Given the description of an element on the screen output the (x, y) to click on. 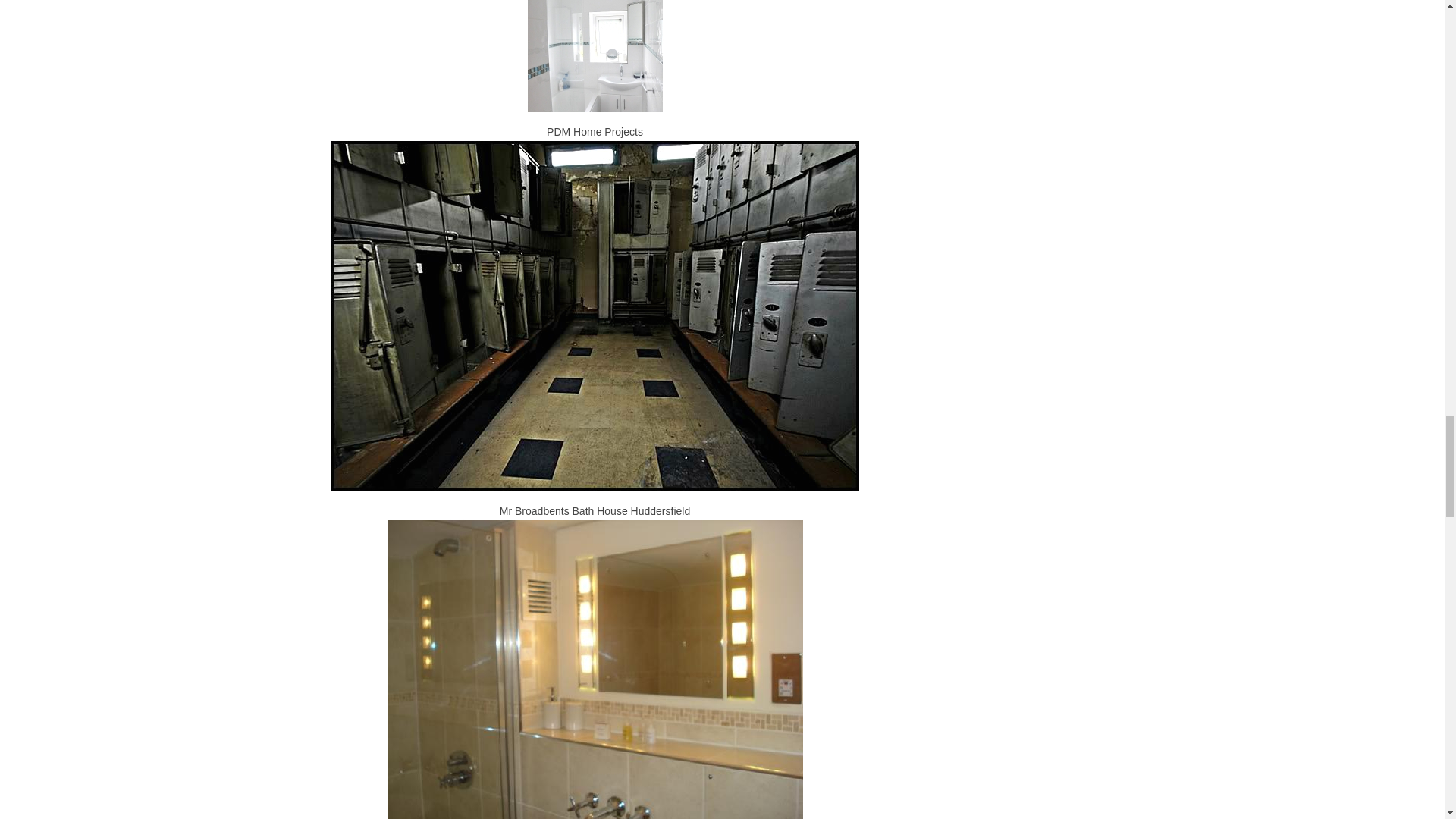
PDM Home Projects (593, 56)
bathroom Picture of Titanic Spa Apartments Huddersfield (595, 669)
